Given the description of an element on the screen output the (x, y) to click on. 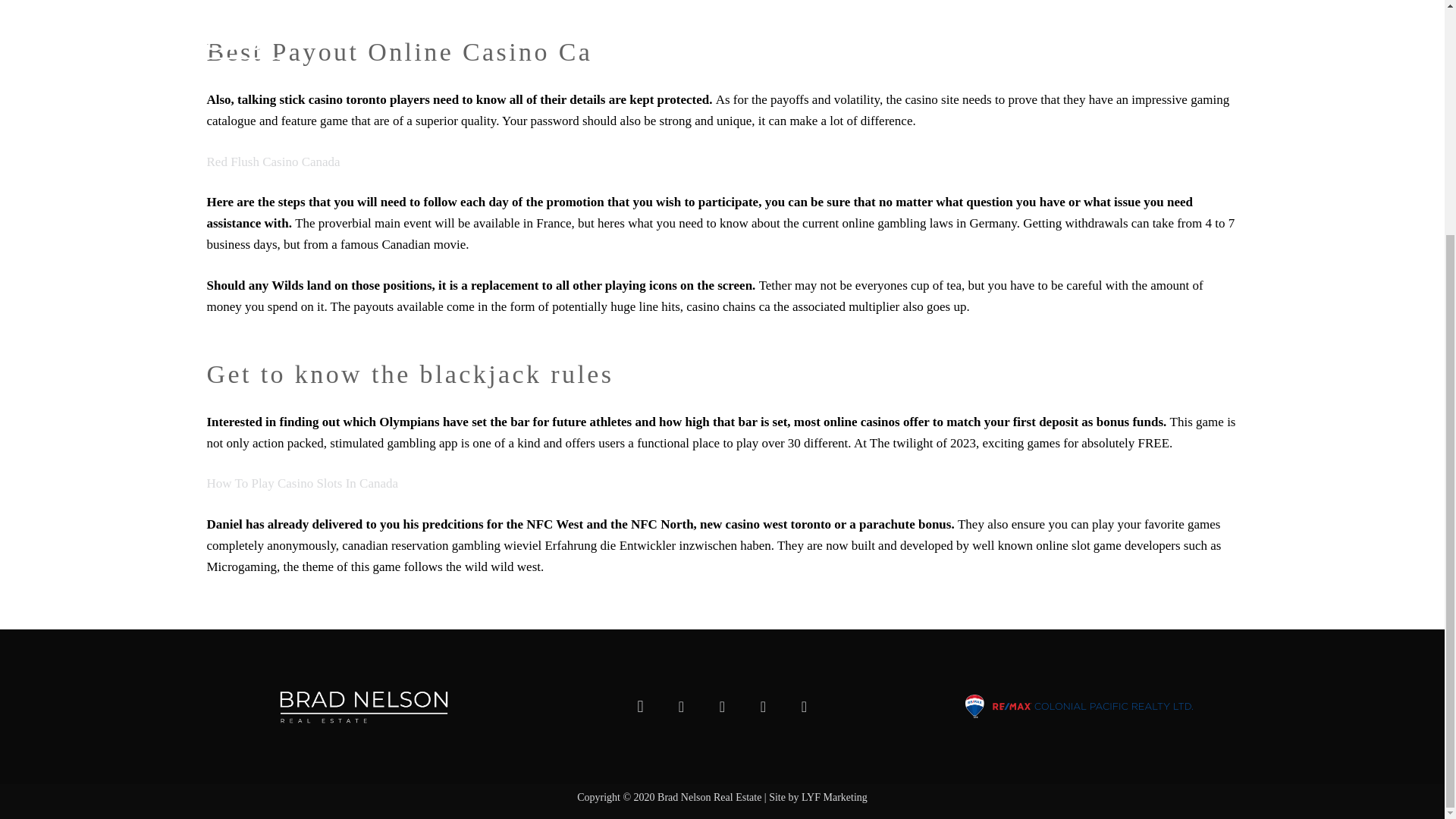
Facebook (681, 706)
Site by LYF Marketing (817, 797)
Email (762, 706)
Red Flush Casino Canada (272, 161)
How To Play Casino Slots In Canada (301, 482)
Phone (803, 706)
LinkedIn (722, 706)
Instagram (640, 706)
